Given the description of an element on the screen output the (x, y) to click on. 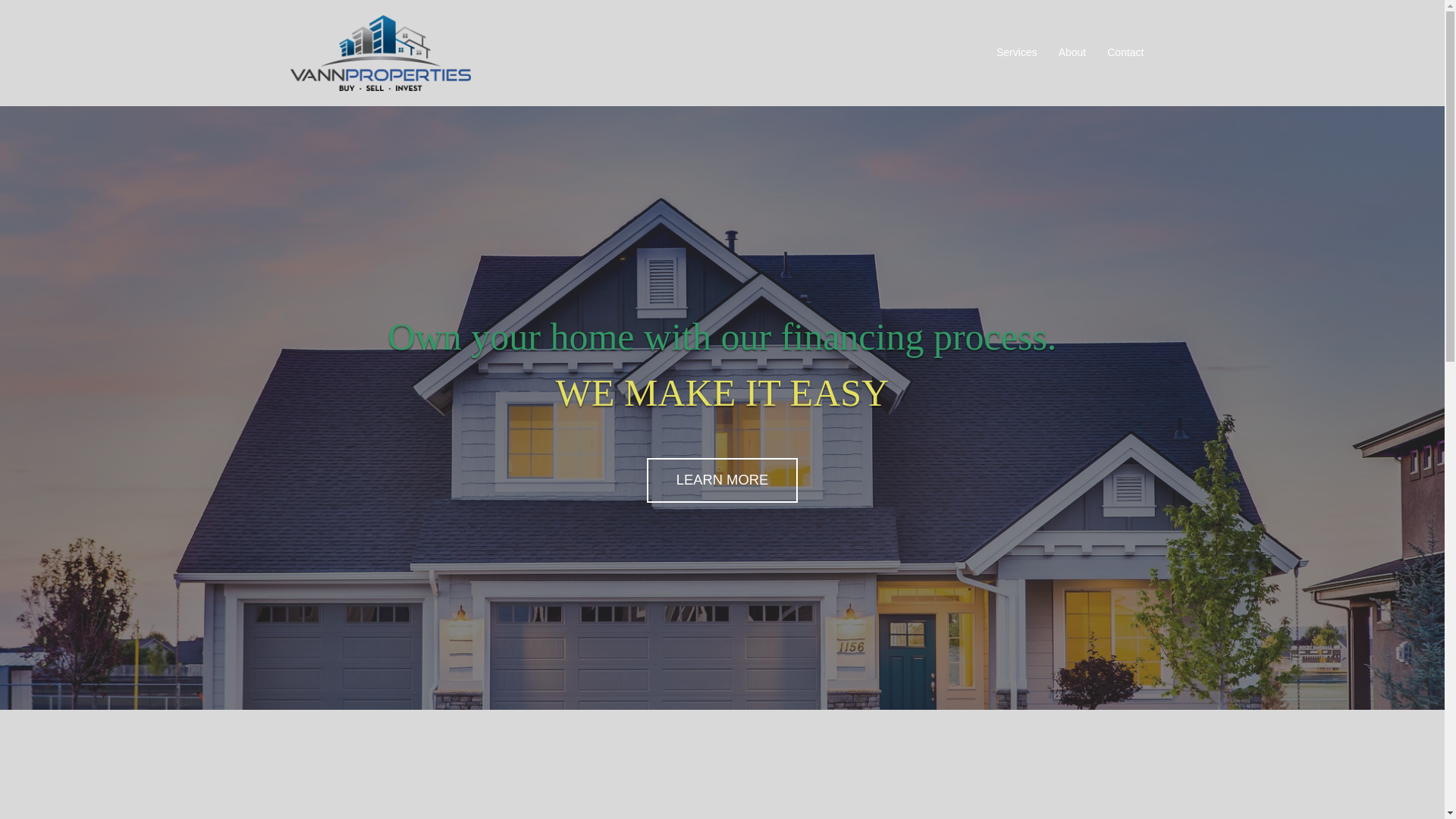
Vann Properties (379, 51)
Contact (1124, 53)
Services (1015, 53)
About (1072, 53)
LEARN MORE (721, 479)
